Given the description of an element on the screen output the (x, y) to click on. 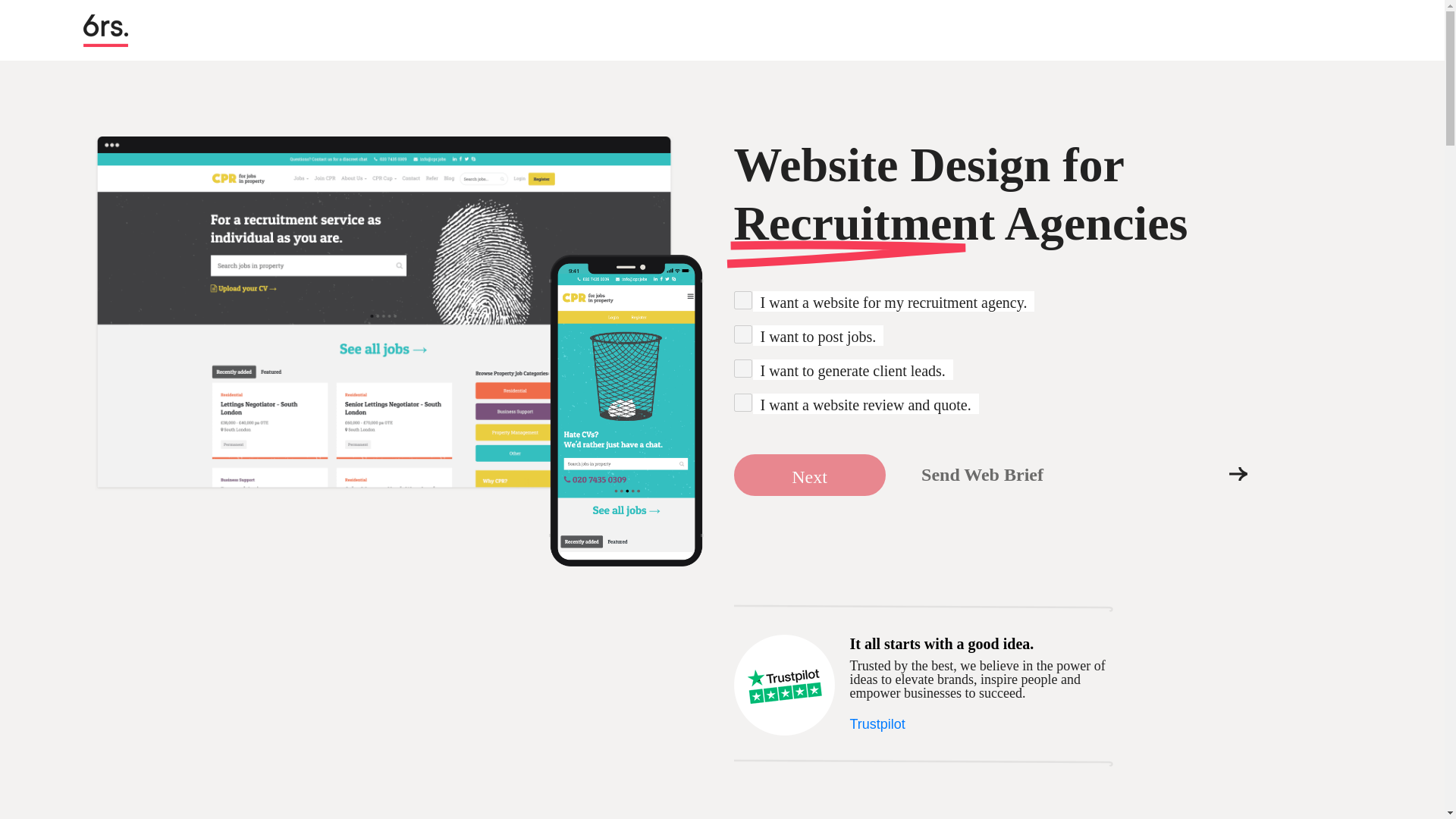
Trustpilot (876, 724)
I want a website for my recruitment agency (742, 300)
Next (809, 475)
I want to generate client leads (742, 368)
Send Web Brief (981, 474)
I want to post jobs. (742, 334)
Send Web Brief (981, 474)
Next (809, 475)
I want a website review and quote (742, 402)
